Given the description of an element on the screen output the (x, y) to click on. 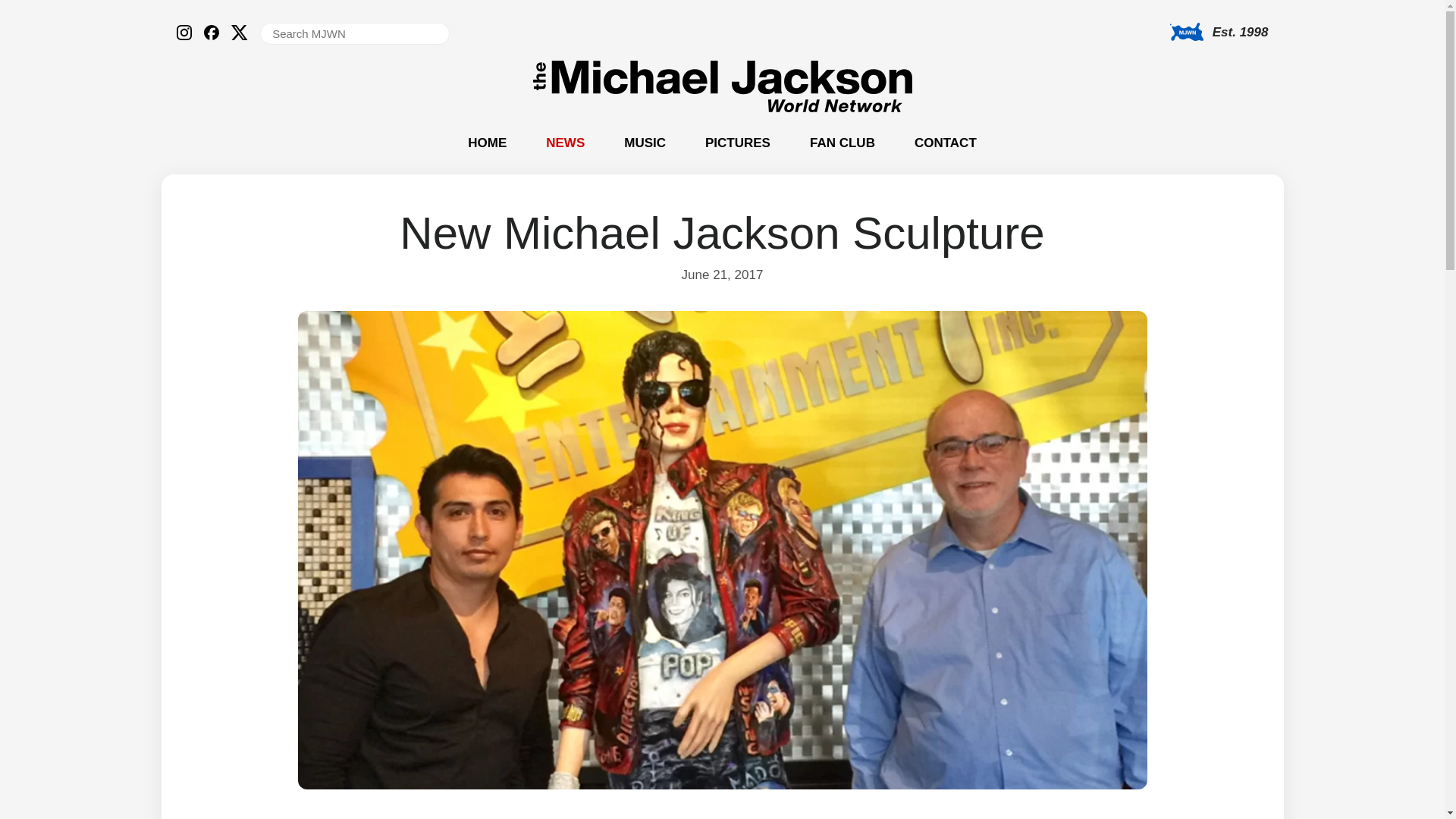
HOME (486, 143)
CONTACT (945, 143)
PICTURES (738, 143)
FAN CLUB (841, 143)
MUSIC (644, 143)
NEWS (565, 143)
